Given the description of an element on the screen output the (x, y) to click on. 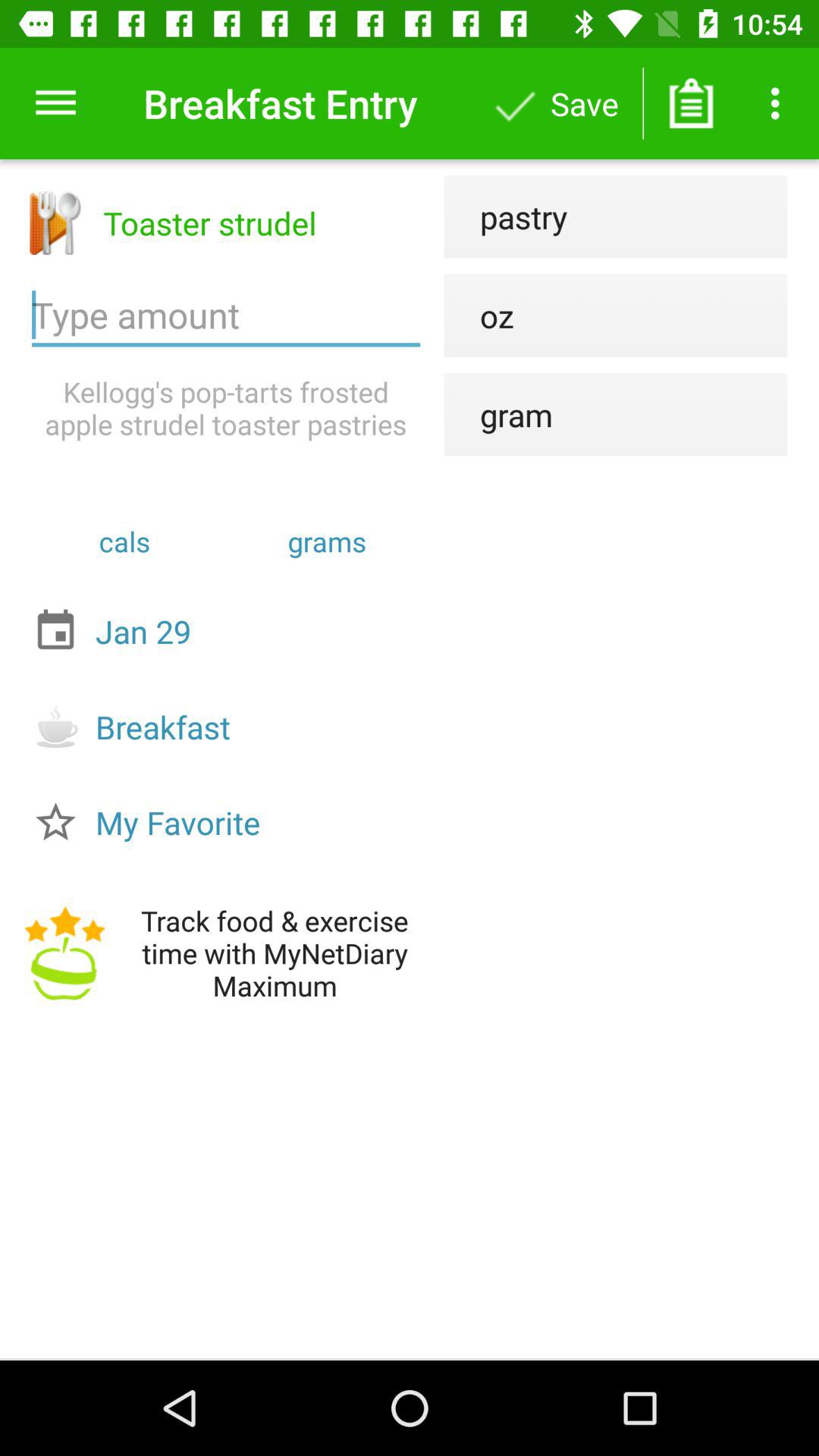
select item next to the toaster strudel (505, 216)
